Given the description of an element on the screen output the (x, y) to click on. 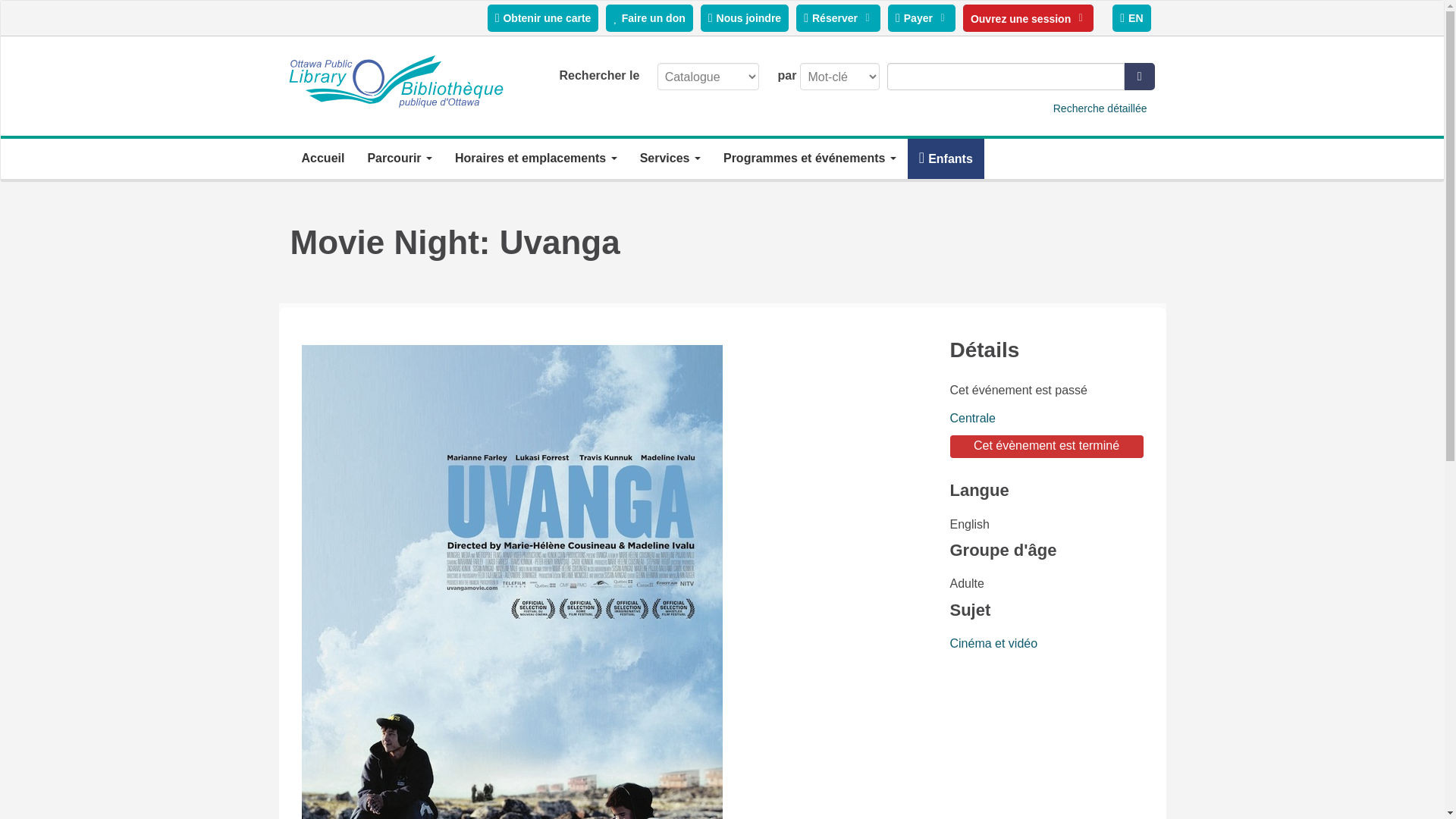
Faire un don (649, 17)
Parcourir (399, 158)
EN (1131, 17)
Accueil (322, 158)
accueil (395, 81)
Nous joindre (744, 17)
Obtenir une carte (542, 17)
